Given the description of an element on the screen output the (x, y) to click on. 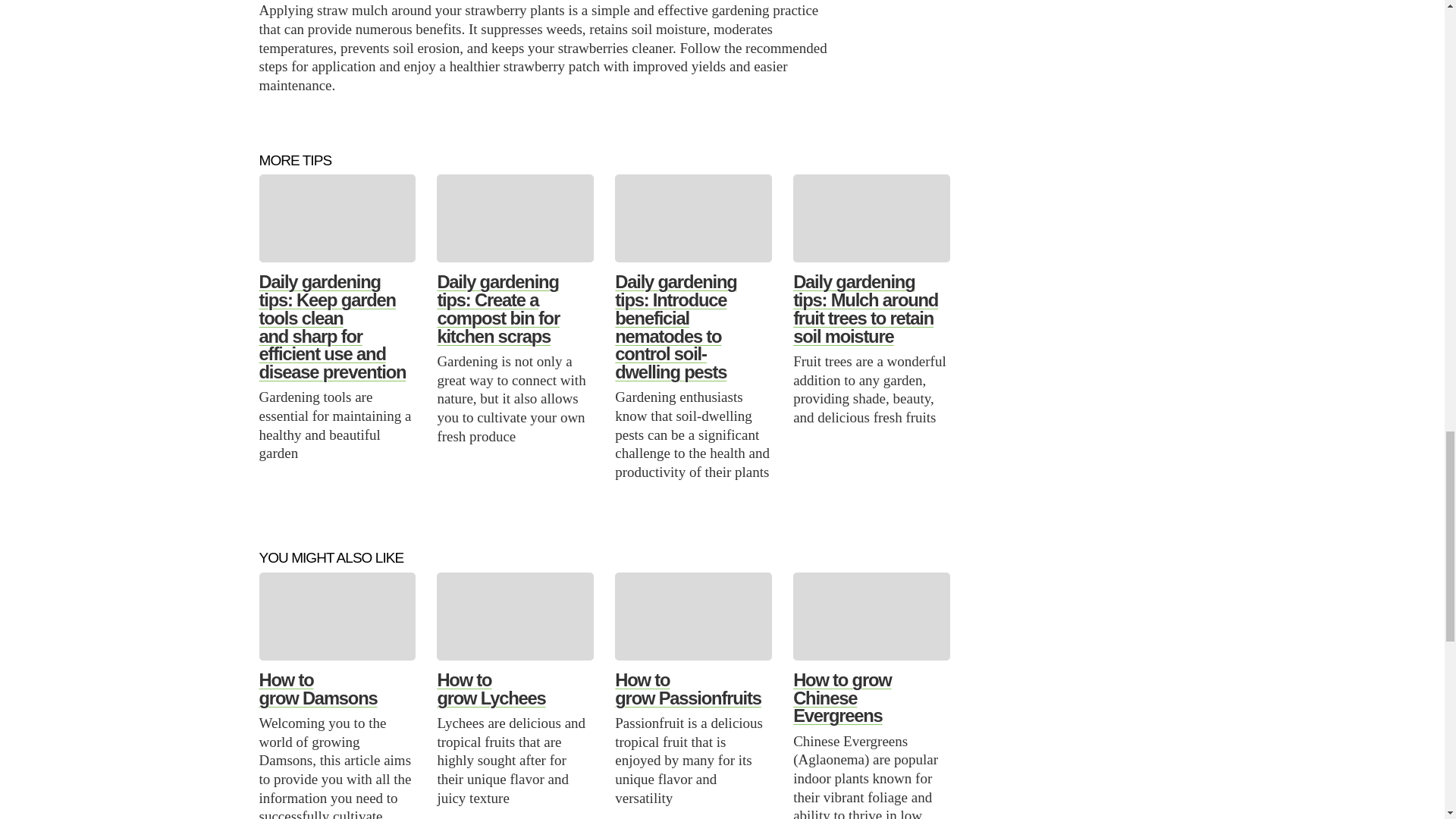
How to grow Lychees (490, 688)
How to grow Damsons (318, 688)
How to grow Chinese Evergreens (842, 697)
How to grow Passionfruits (687, 688)
